Given the description of an element on the screen output the (x, y) to click on. 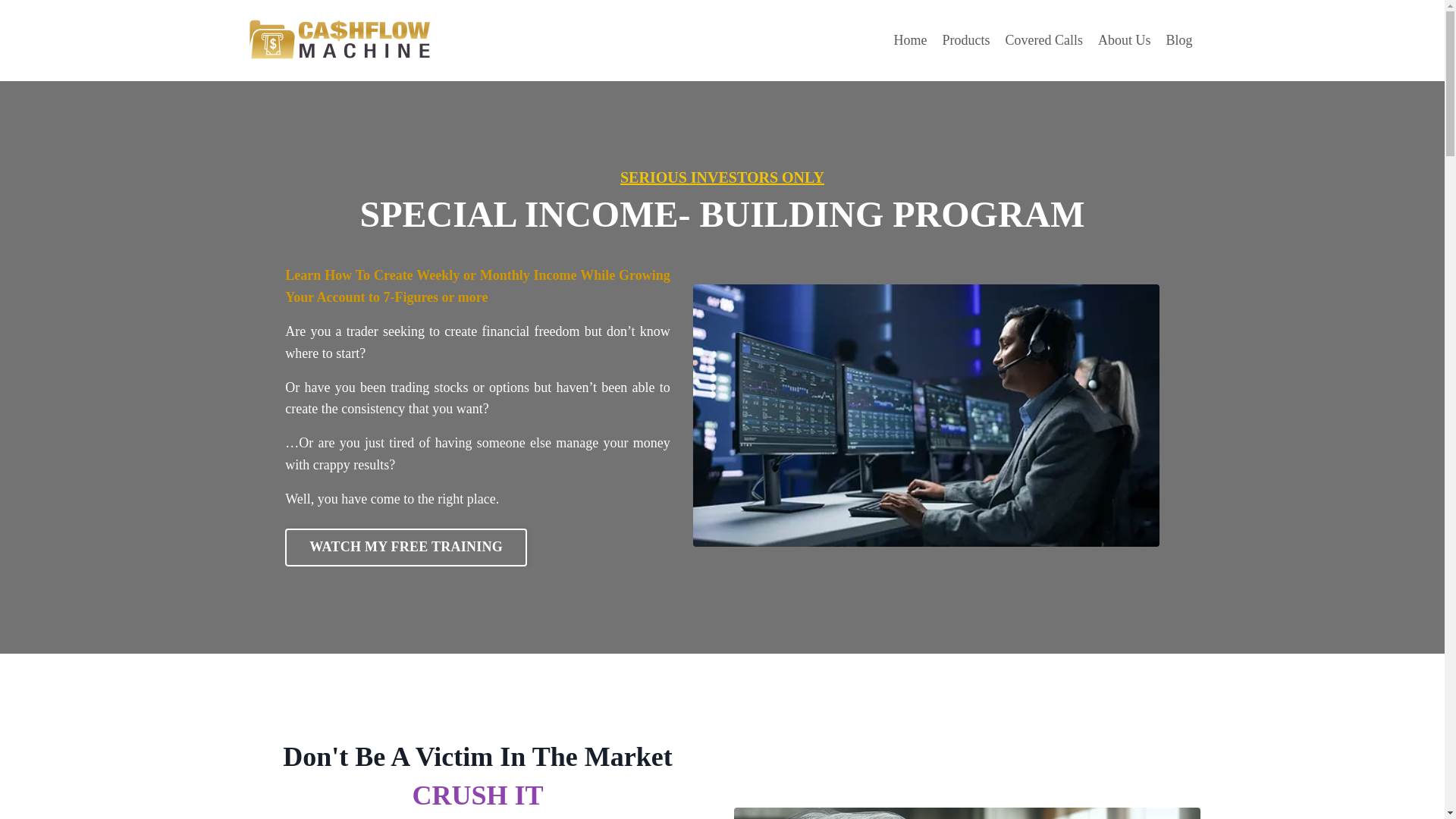
Products (966, 40)
About Us (1124, 40)
Home (909, 40)
Blog (1179, 40)
WATCH MY FREE TRAINING (406, 547)
Covered Calls (1042, 40)
